Given the description of an element on the screen output the (x, y) to click on. 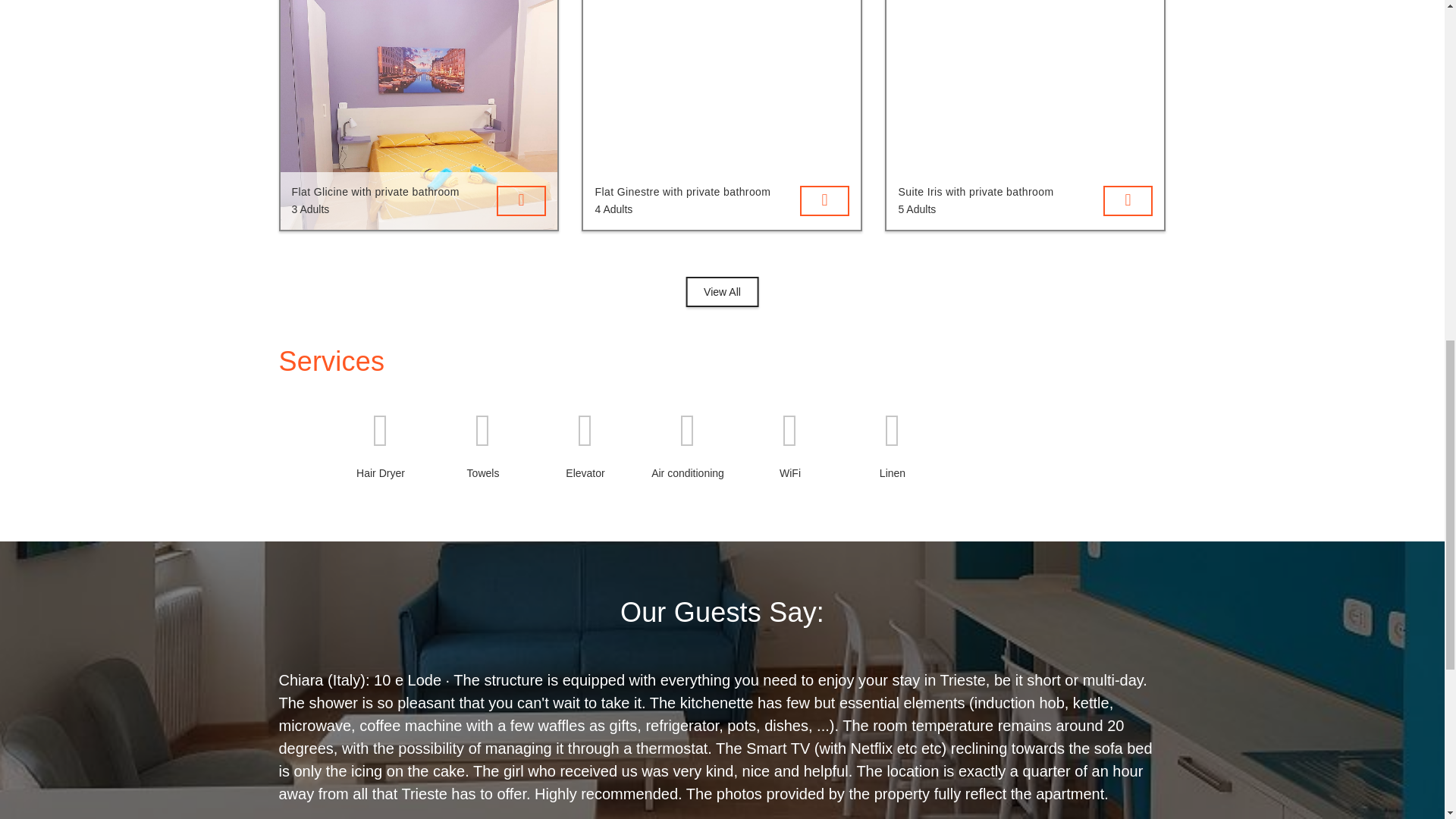
View (1128, 200)
View All (721, 291)
Towels (483, 446)
View (521, 200)
Elevator (585, 446)
Hair Dryer (379, 446)
Linen (892, 446)
WiFi (789, 446)
Air conditioning (688, 446)
View (823, 200)
